Given the description of an element on the screen output the (x, y) to click on. 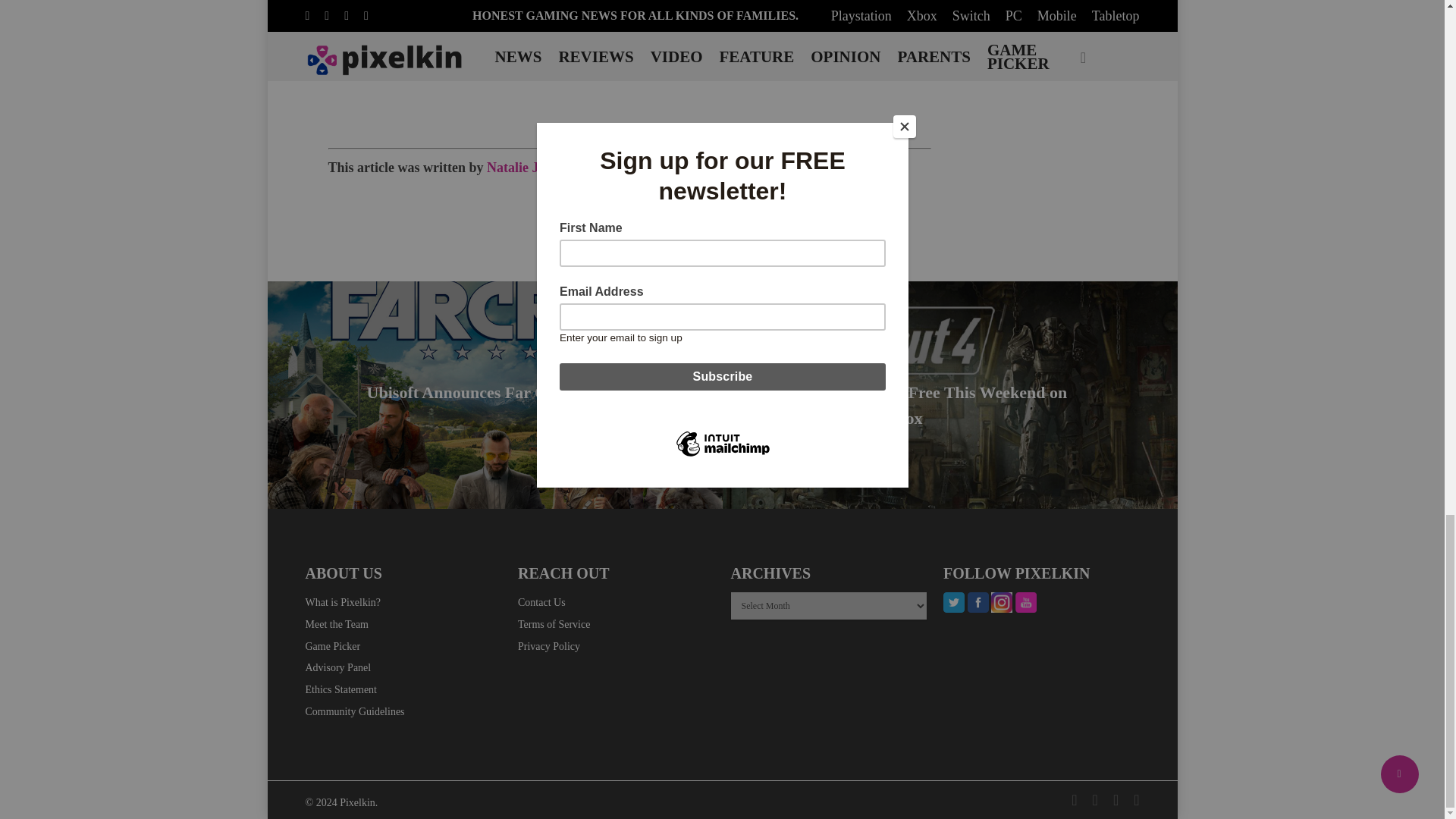
Phoenix Wright: Ace Attorney (654, 68)
Ace Attorney (382, 68)
3DS (321, 68)
IOS (559, 68)
Capcom (509, 68)
Android (451, 68)
Posts by Natalie Jaech (525, 167)
Phoenix Wright: Ace Attorney - Duel Destinies (841, 68)
